Given the description of an element on the screen output the (x, y) to click on. 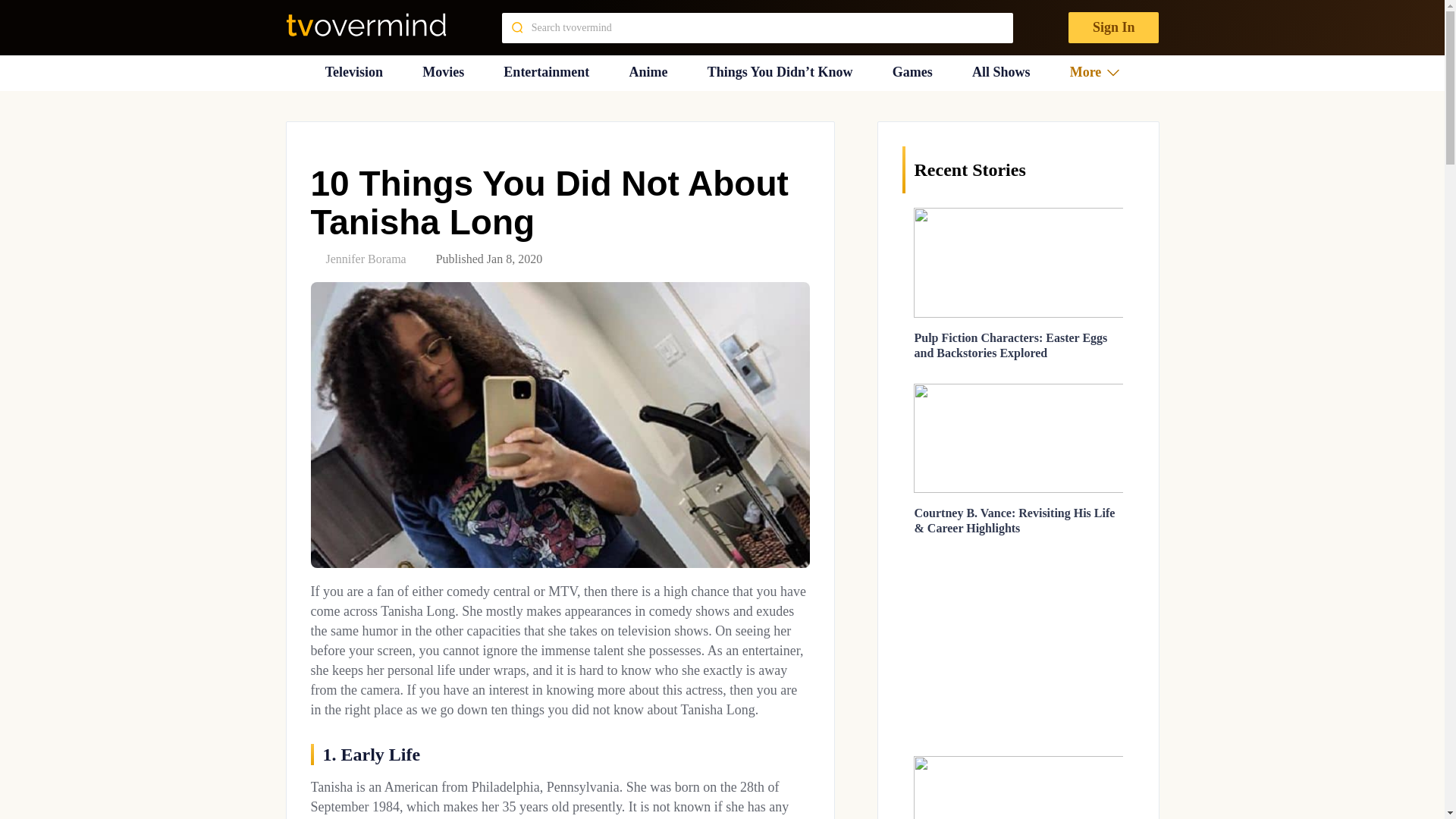
Games (912, 72)
More (1094, 72)
Sign In (1113, 27)
Movies (443, 72)
Anime (648, 72)
Entertainment (546, 72)
Television (353, 72)
Posts by Jennifer Borama (366, 258)
